Given the description of an element on the screen output the (x, y) to click on. 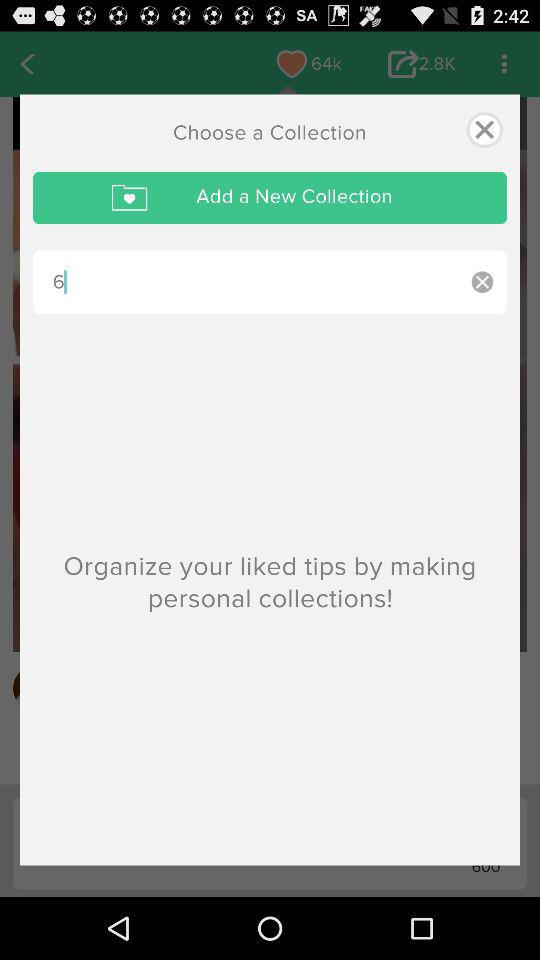
select icon to the right of the choose a collection icon (484, 129)
